Given the description of an element on the screen output the (x, y) to click on. 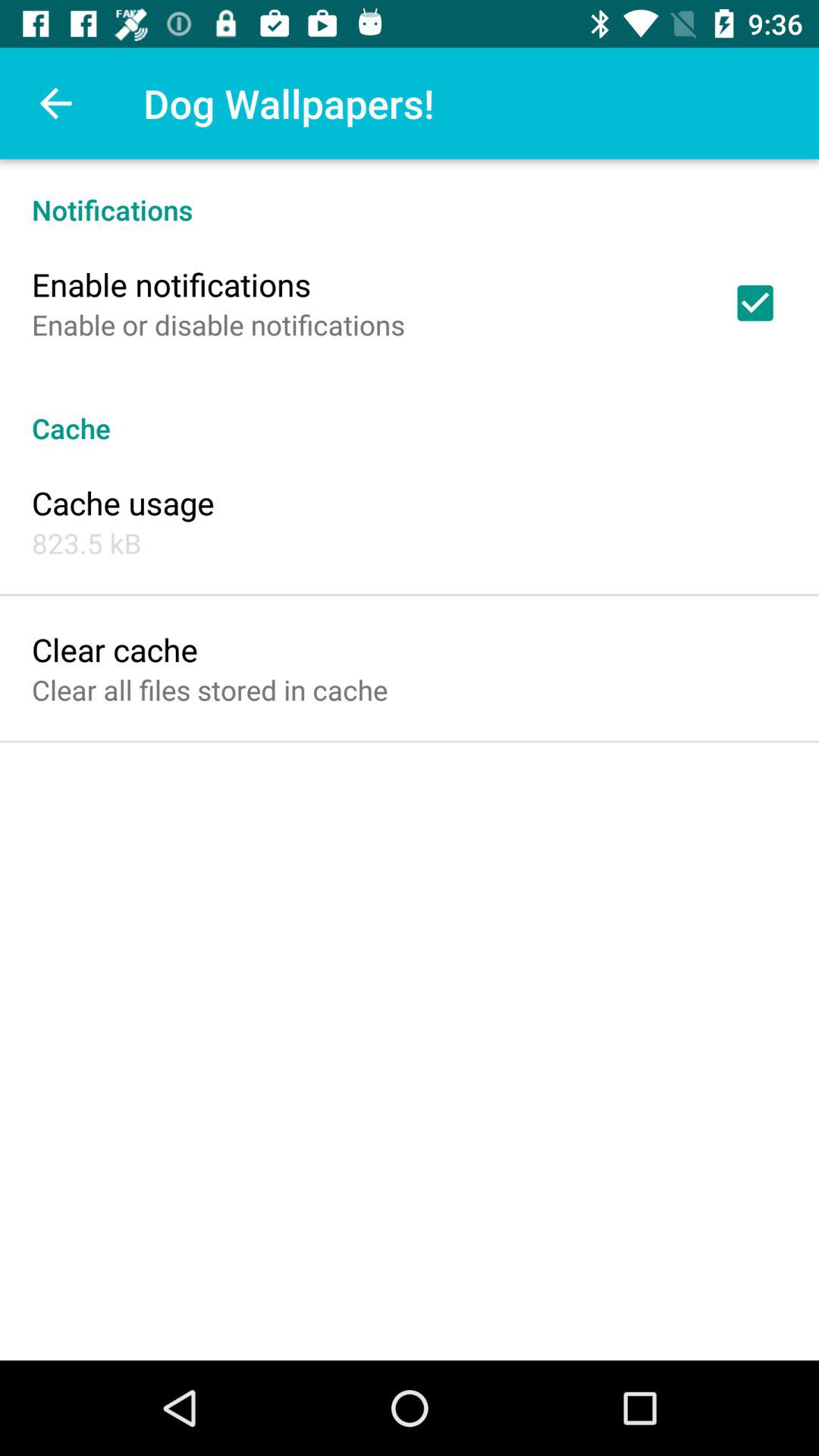
turn off the item below the cache item (122, 502)
